Given the description of an element on the screen output the (x, y) to click on. 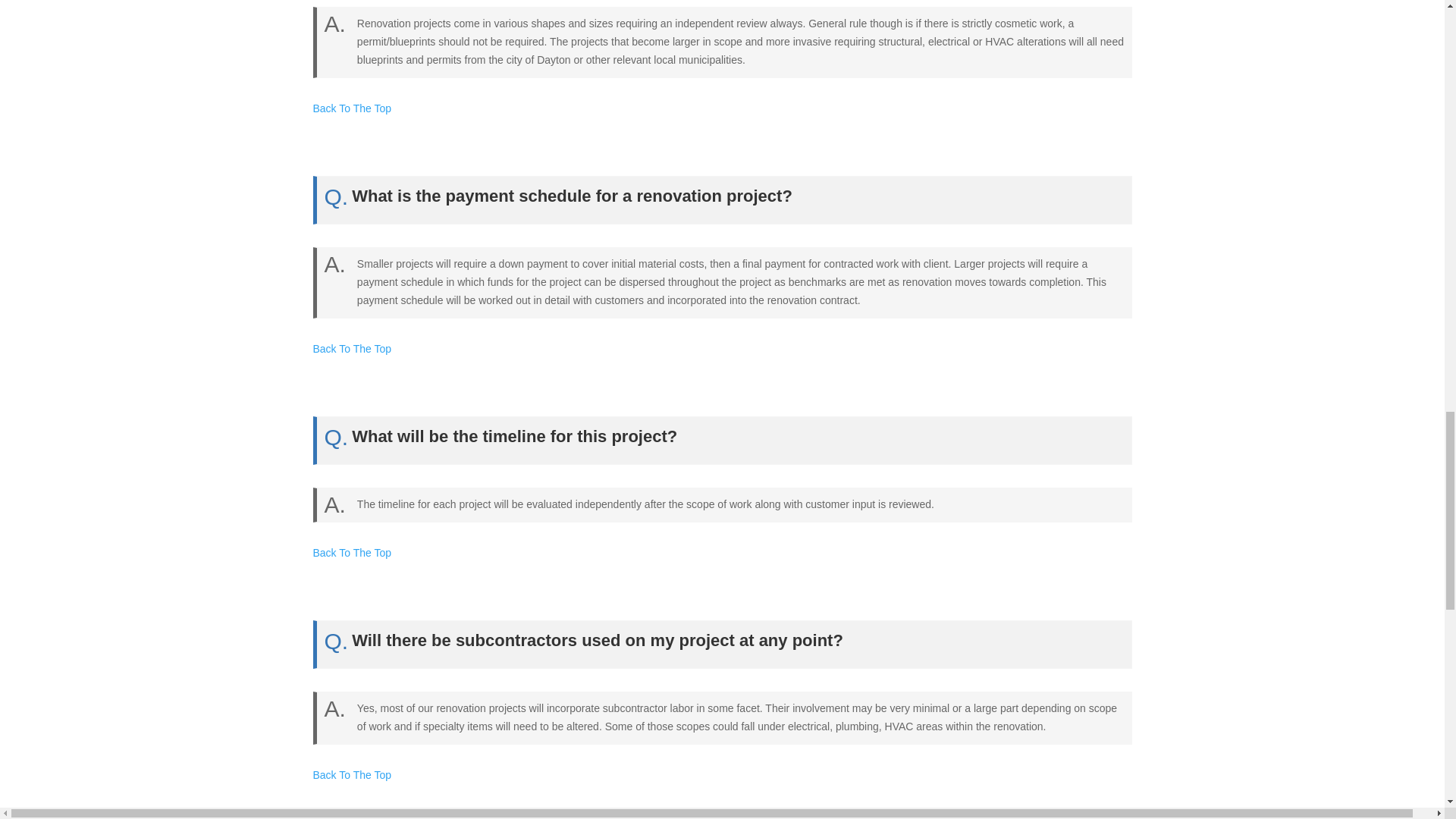
Back To The Top (352, 552)
Back To The Top (352, 108)
Back To The Top (352, 775)
Back To The Top (352, 348)
